Given the description of an element on the screen output the (x, y) to click on. 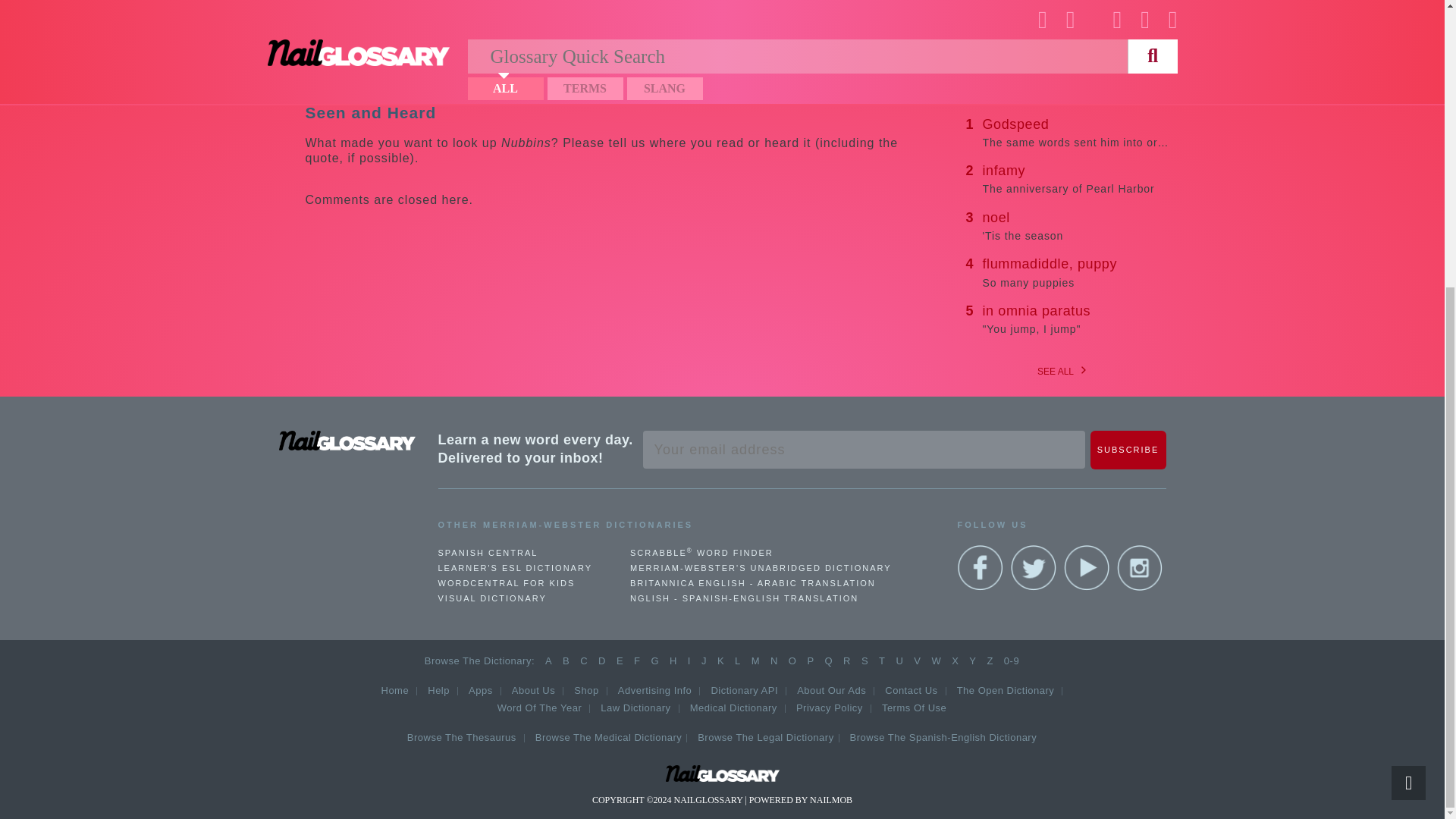
SUBSCRIBE (1077, 272)
Nail Glossary by NailMOB (1128, 449)
NAILGLOSSARY TRENDING (1077, 225)
Nail Glossary by NailMOB (346, 440)
Back to Top (1077, 318)
